Given the description of an element on the screen output the (x, y) to click on. 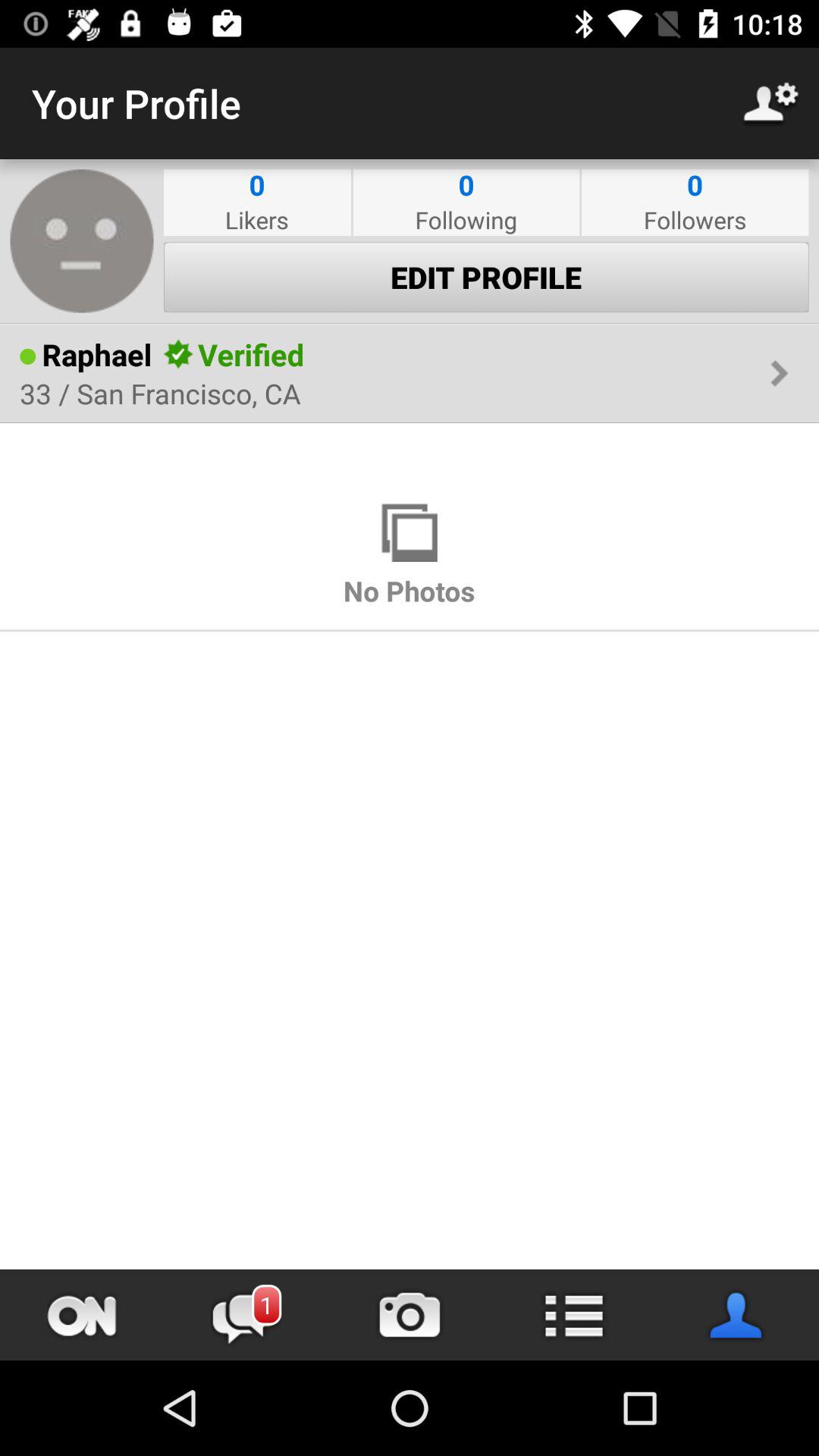
tap the item next to the verified icon (537, 354)
